Given the description of an element on the screen output the (x, y) to click on. 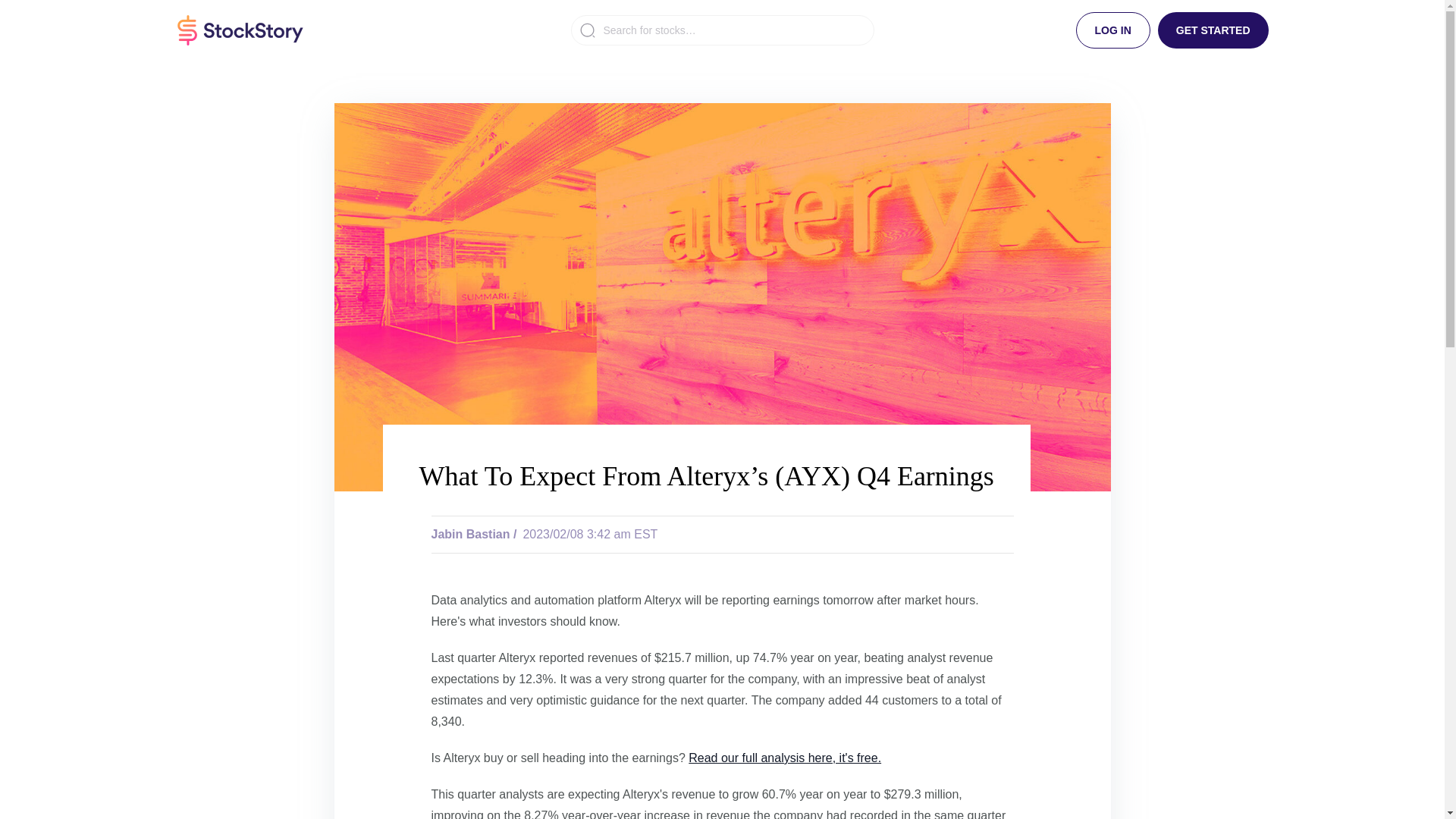
Read our full analysis here, it's free. (784, 757)
LOG IN (1112, 30)
GET STARTED (1212, 30)
